Given the description of an element on the screen output the (x, y) to click on. 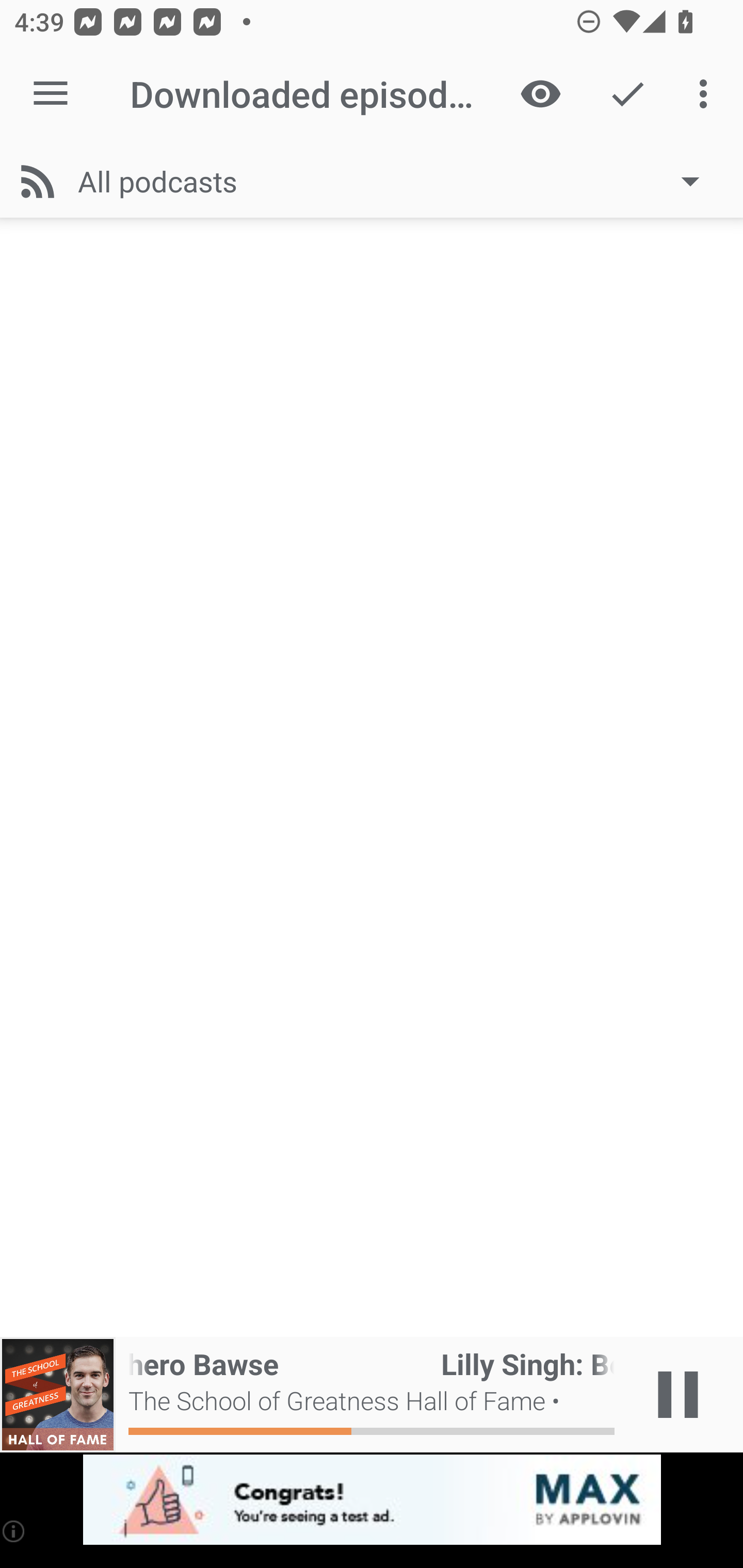
Open navigation sidebar (50, 93)
Show / Hide played content (540, 93)
Action Mode (626, 93)
More options (706, 93)
All podcasts (398, 180)
Play / Pause (677, 1394)
app-monetization (371, 1500)
(i) (14, 1531)
